Given the description of an element on the screen output the (x, y) to click on. 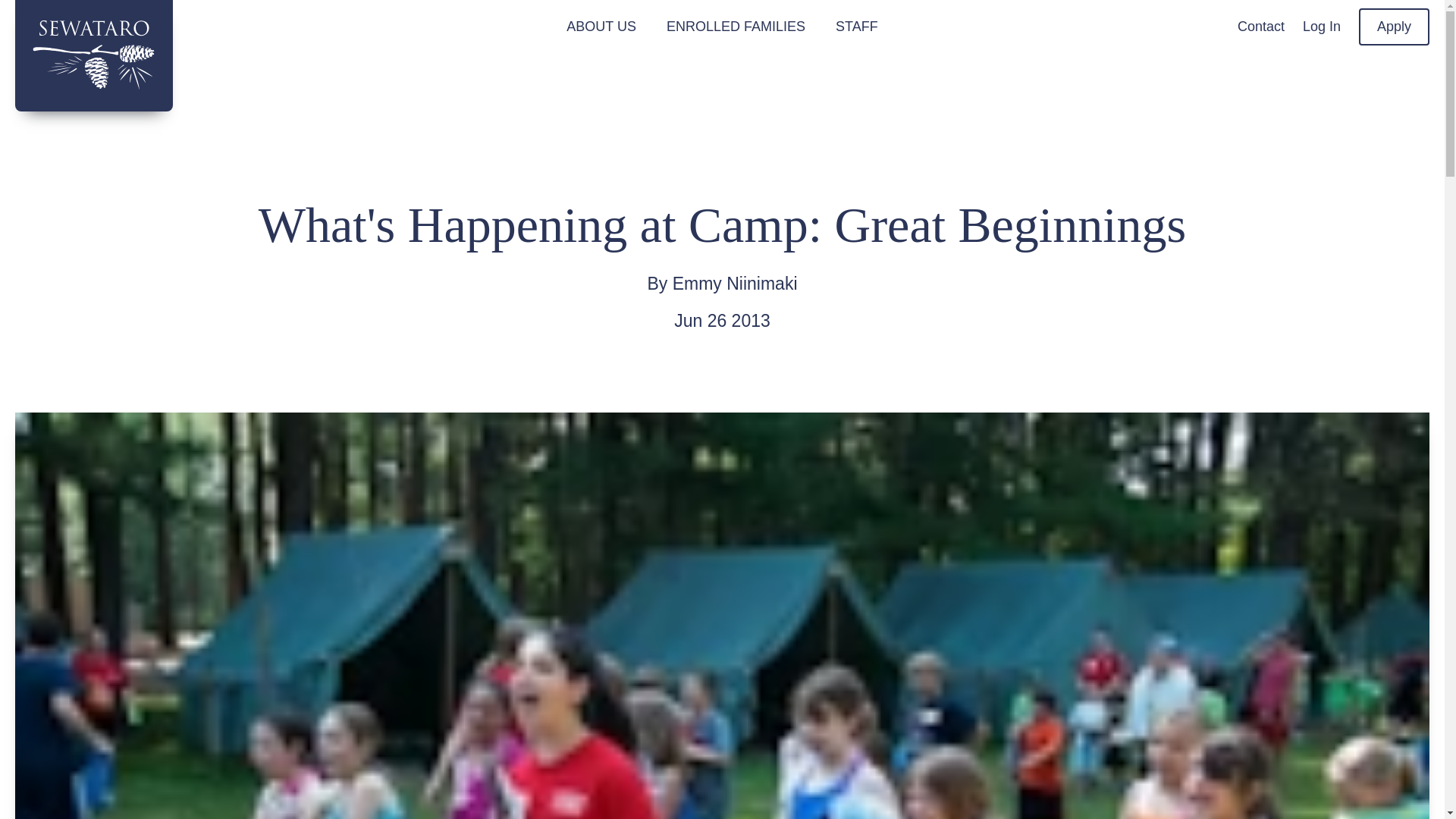
ABOUT US (600, 26)
Sewataro (93, 55)
